Given the description of an element on the screen output the (x, y) to click on. 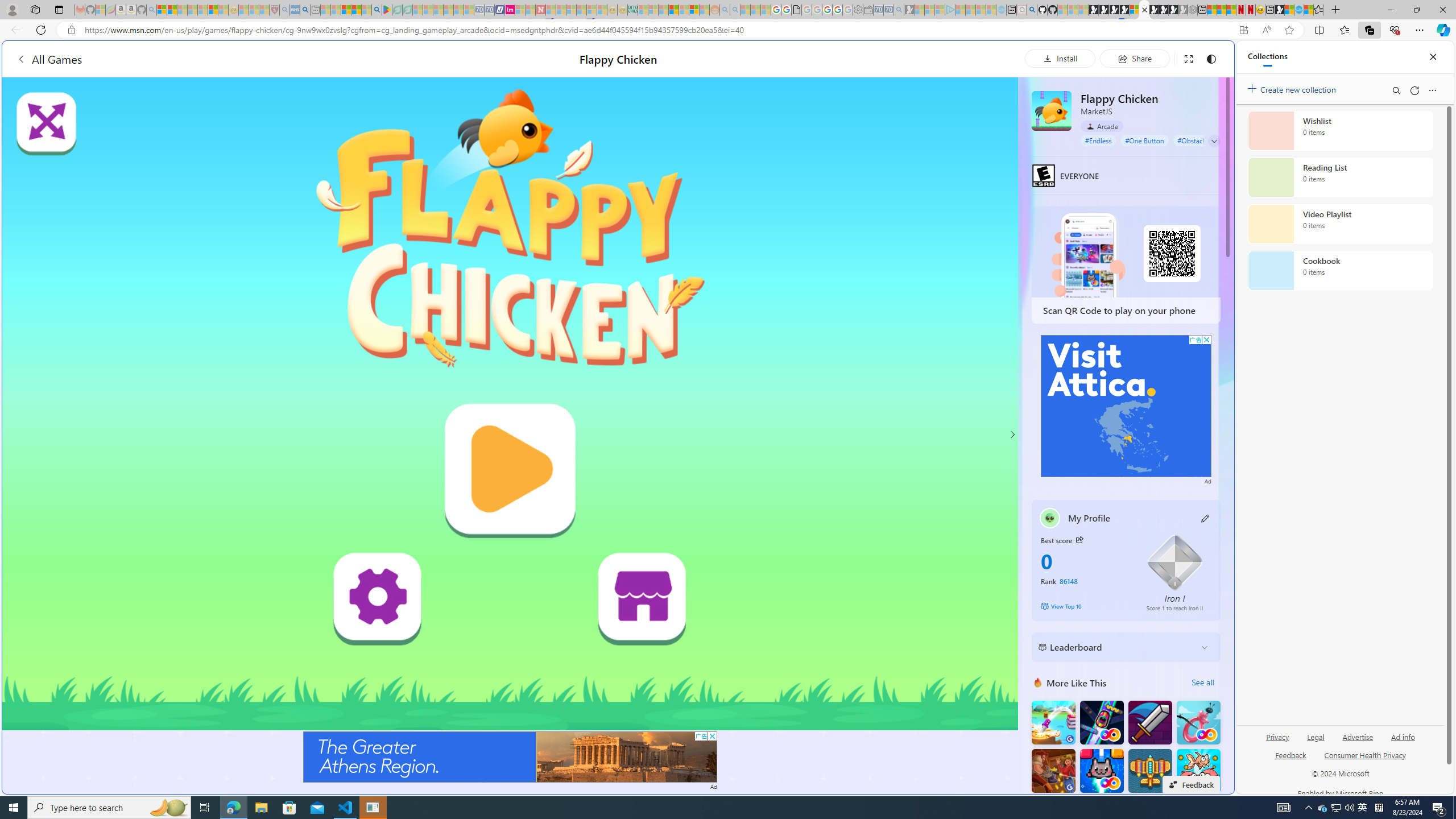
Arcade (1101, 126)
World - MSN (727, 389)
View Top 10 (1085, 605)
Fish Merge FRVR (1198, 770)
